Given the description of an element on the screen output the (x, y) to click on. 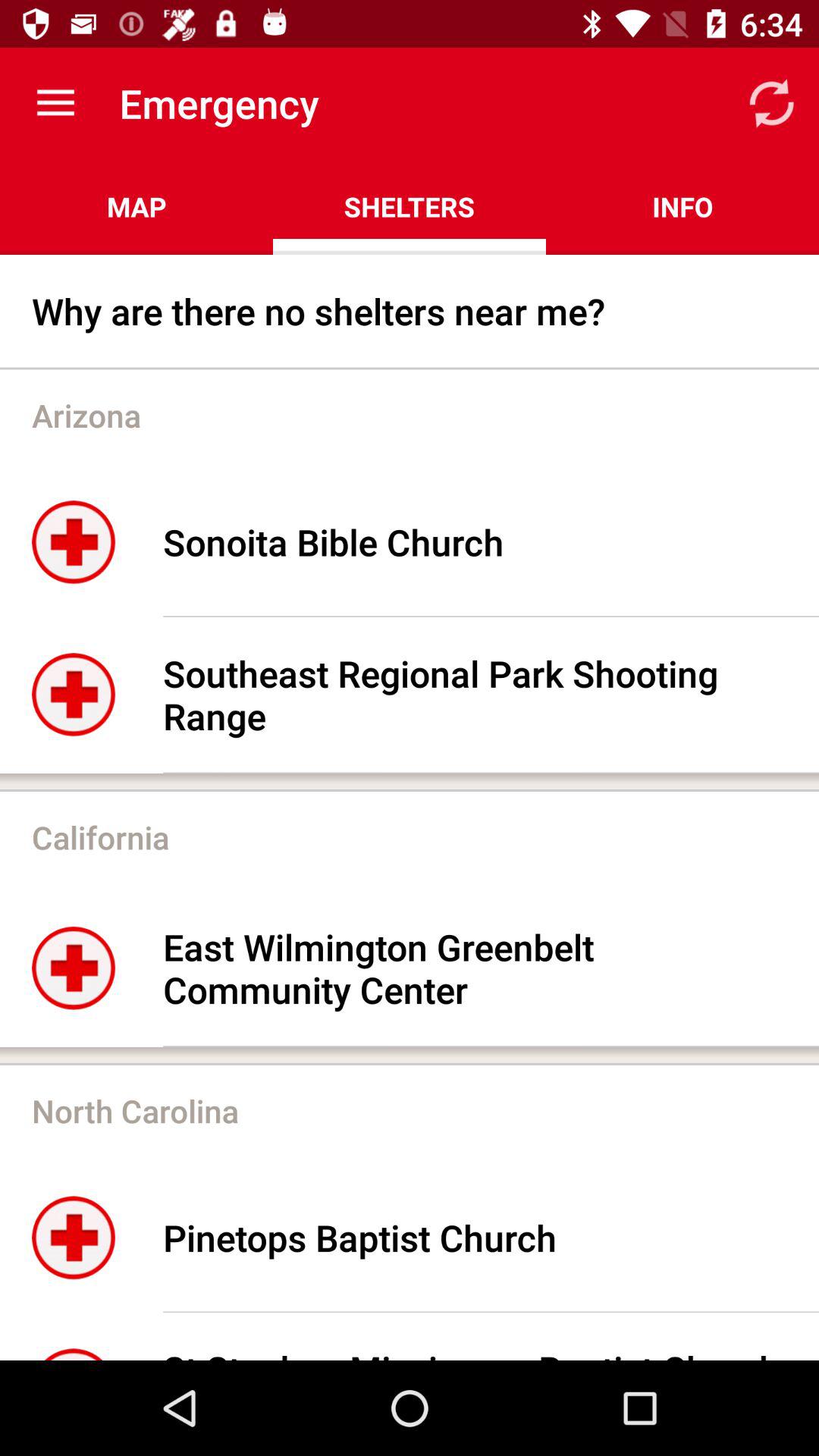
open the app next to emergency (55, 103)
